Given the description of an element on the screen output the (x, y) to click on. 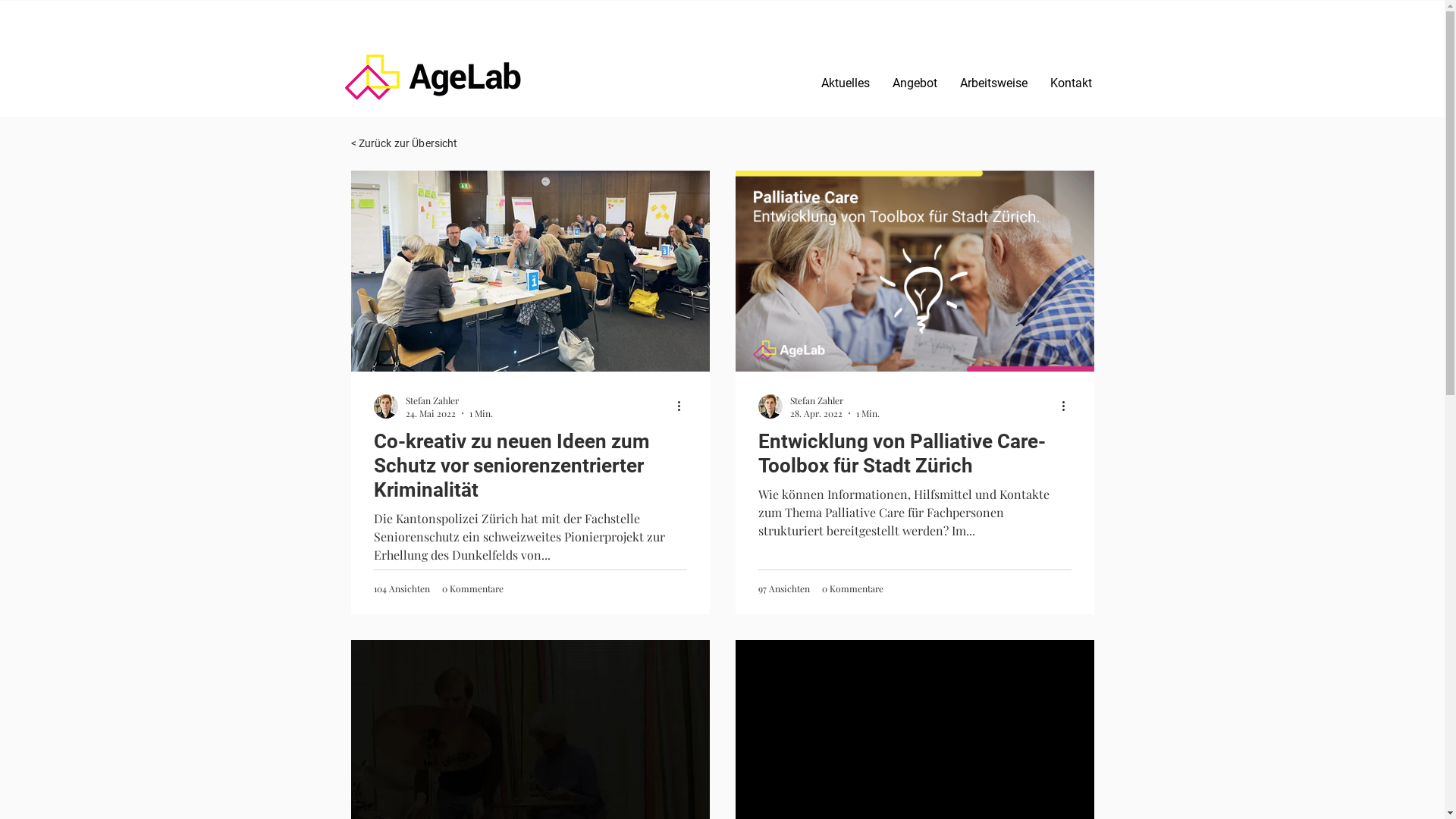
Aktuelles Element type: text (845, 81)
Arbeitsweise Element type: text (992, 81)
0 Kommentare Element type: text (852, 588)
0 Kommentare Element type: text (471, 588)
Kontakt Element type: text (1070, 81)
Angebot Element type: text (914, 81)
